Given the description of an element on the screen output the (x, y) to click on. 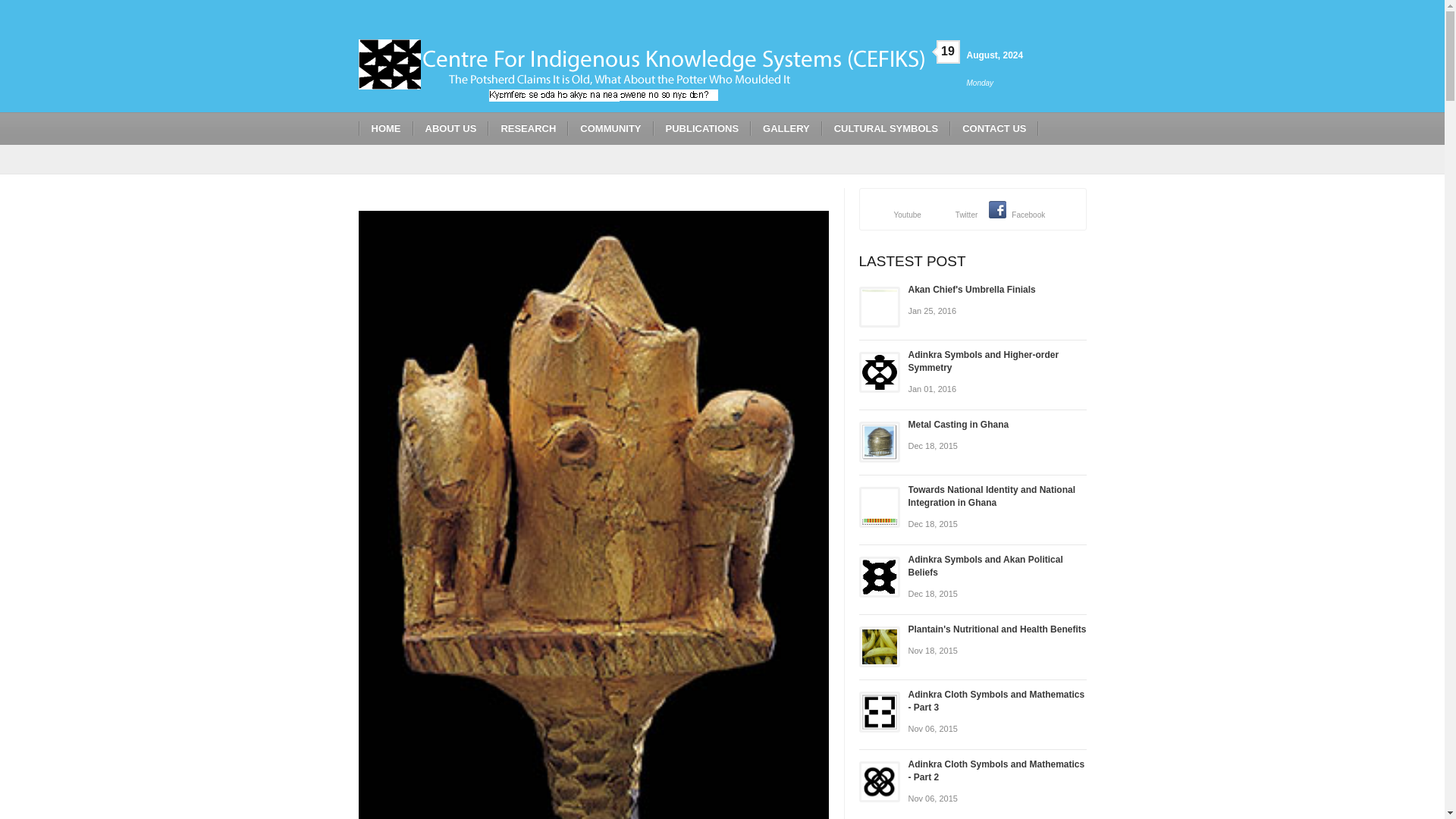
CULTURAL SYMBOLS (885, 128)
COMMUNITY (610, 128)
GALLERY (786, 128)
CONTACT US (993, 128)
PUBLICATIONS (702, 128)
ABOUT US (450, 128)
HOME (385, 128)
BusinessNews (640, 70)
RESEARCH (528, 128)
